Given the description of an element on the screen output the (x, y) to click on. 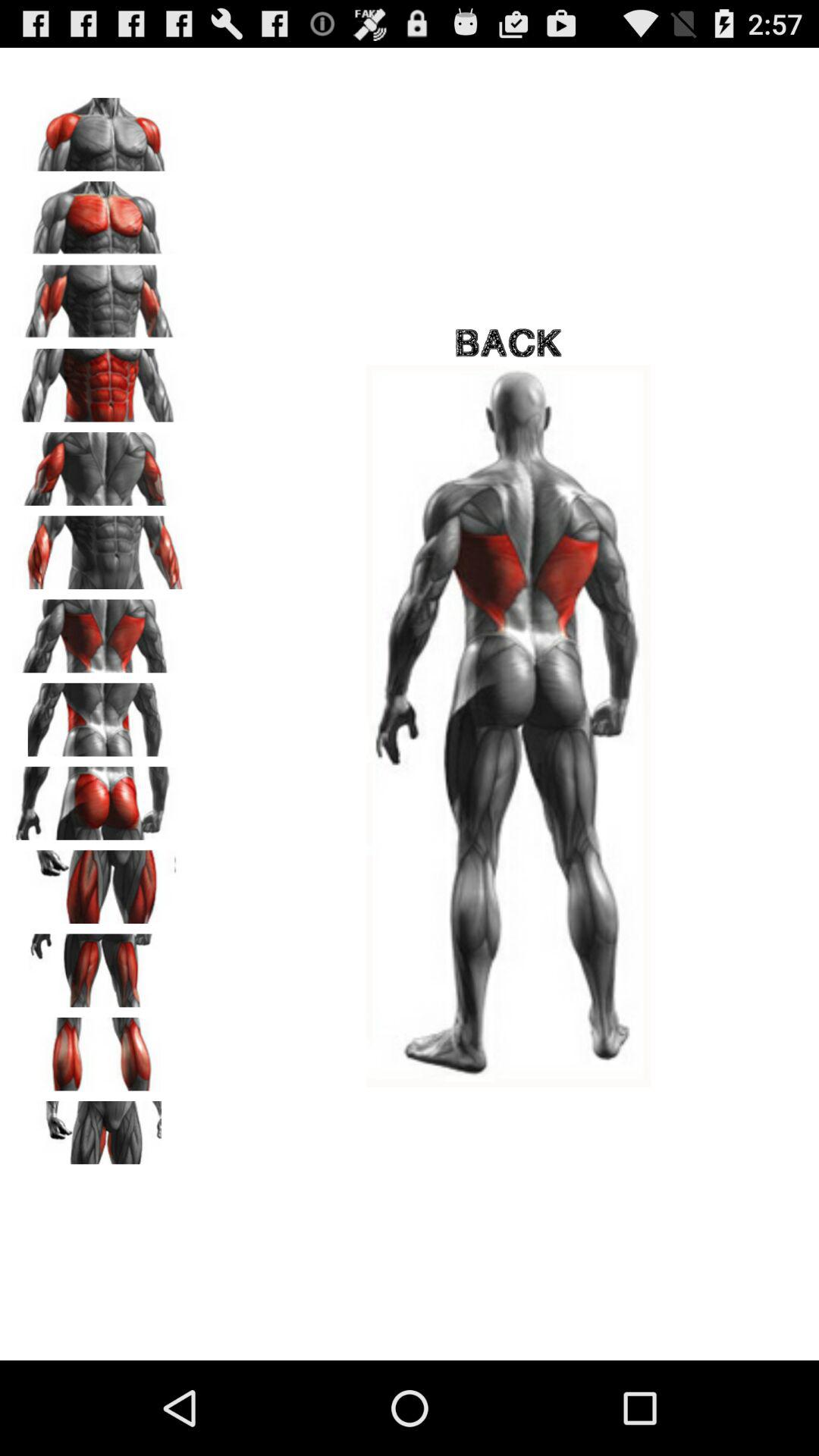
choose triceps muscles (99, 547)
